Given the description of an element on the screen output the (x, y) to click on. 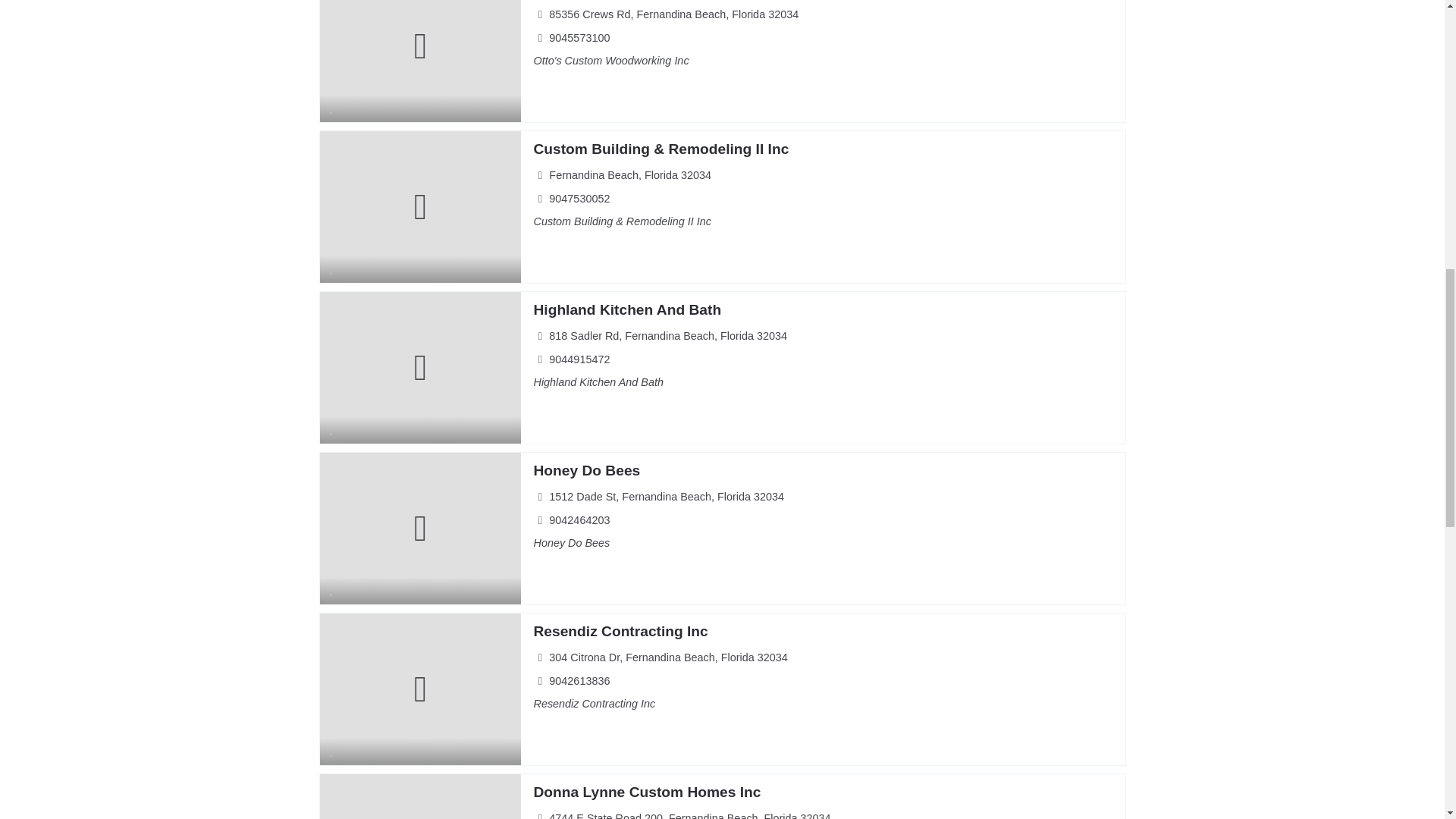
Donna Lynne Custom Homes Inc (646, 791)
Highland Kitchen And Bath (626, 309)
Highland Kitchen And Bath (626, 309)
Honey Do Bees (586, 470)
Resendiz Contracting Inc (619, 631)
